Given the description of an element on the screen output the (x, y) to click on. 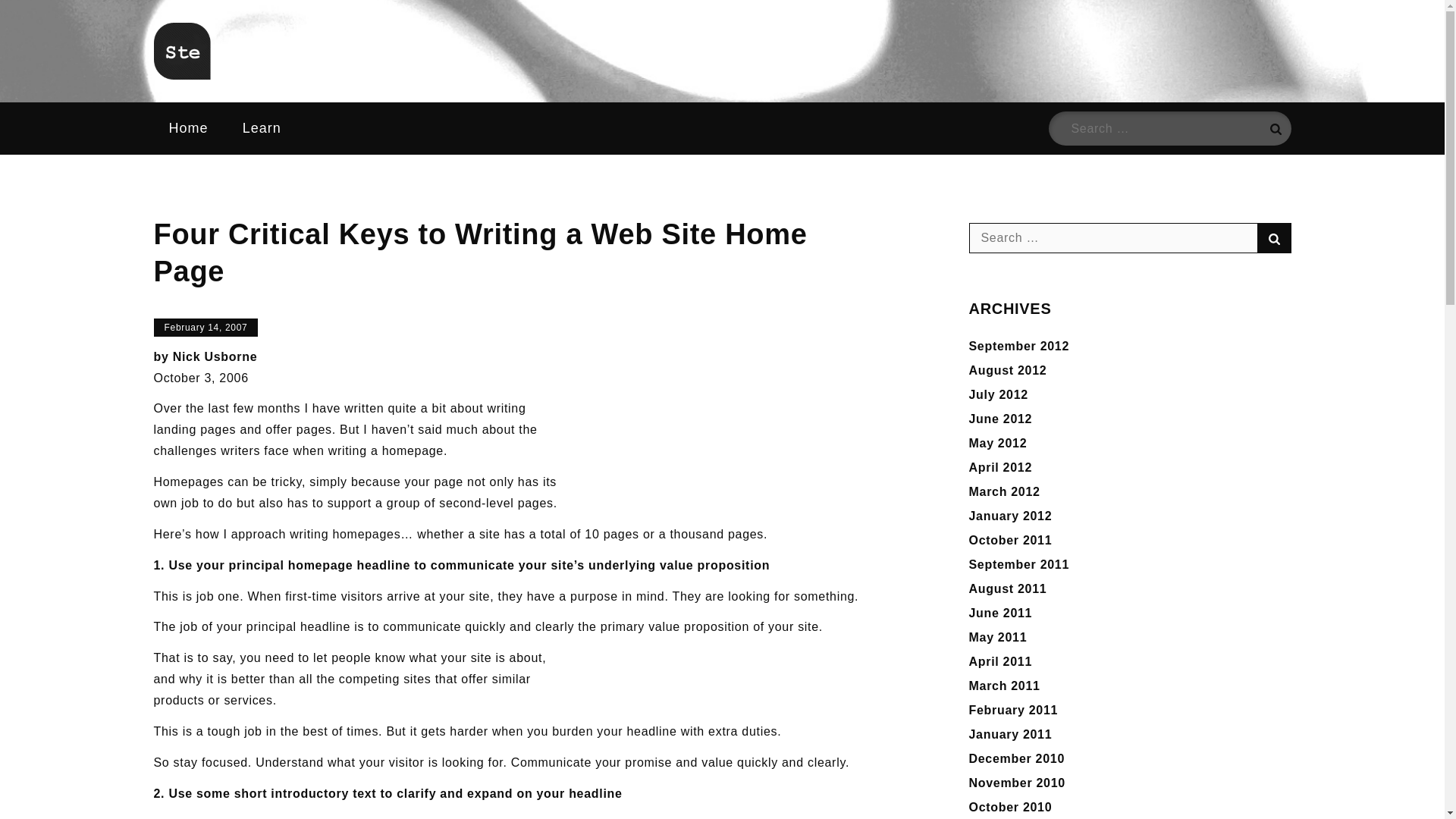
September 2012 (1019, 345)
Search (1274, 128)
February 2011 (1013, 709)
June 2012 (1000, 418)
June 2011 (1000, 612)
Search (1274, 237)
March 2012 (1005, 491)
March 2011 (1005, 685)
May 2012 (998, 442)
February 14, 2007 (204, 327)
January 2012 (1010, 515)
November 2010 (1017, 782)
Home (187, 127)
August 2011 (1007, 588)
August 2012 (1007, 369)
